Given the description of an element on the screen output the (x, y) to click on. 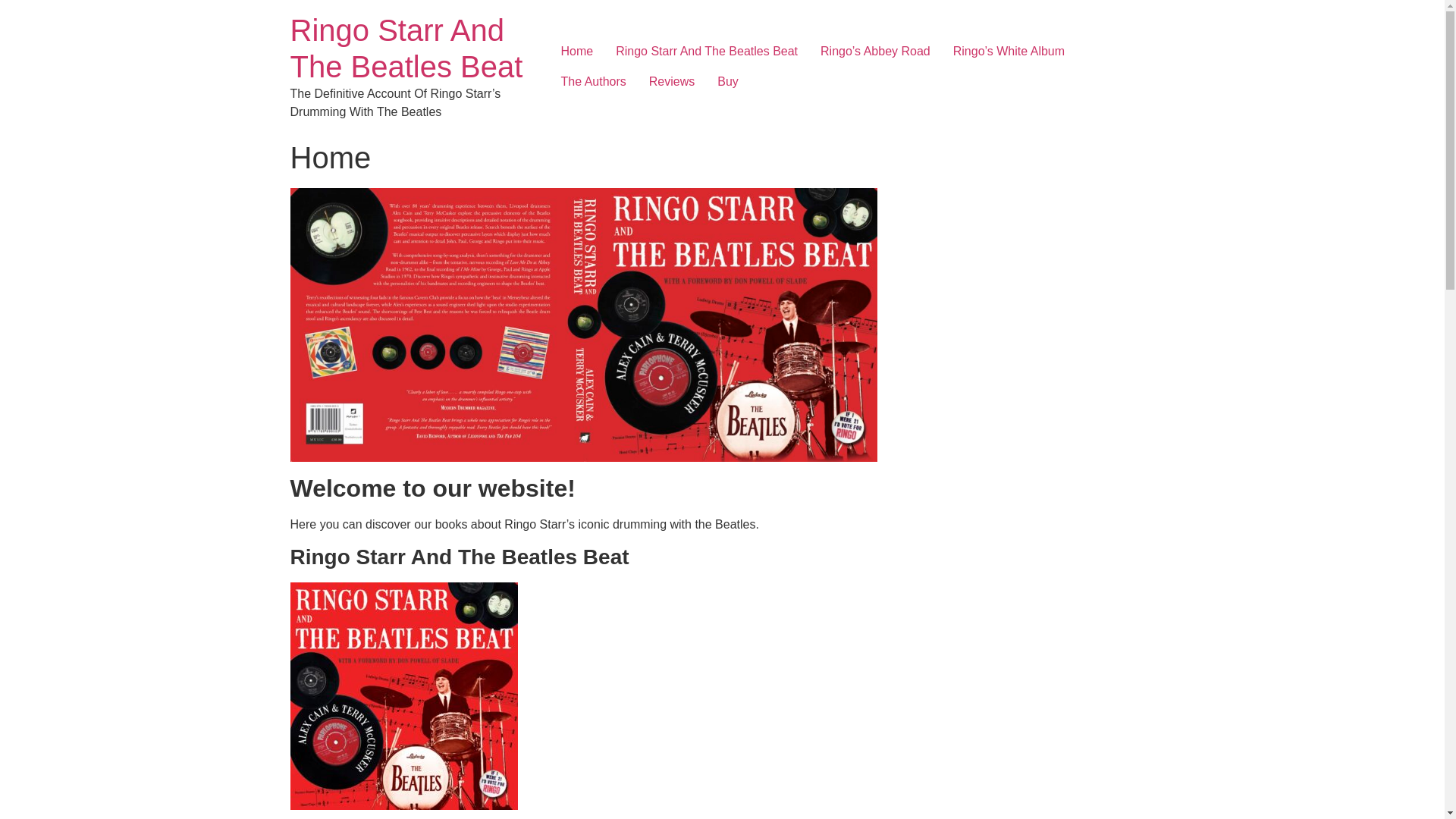
Buy (727, 81)
Ringo Starr And The Beatles Beat (405, 48)
Ringo Starr And The Beatles Beat (706, 51)
Reviews (671, 81)
The Authors (592, 81)
Home (576, 51)
Home (405, 48)
